Given the description of an element on the screen output the (x, y) to click on. 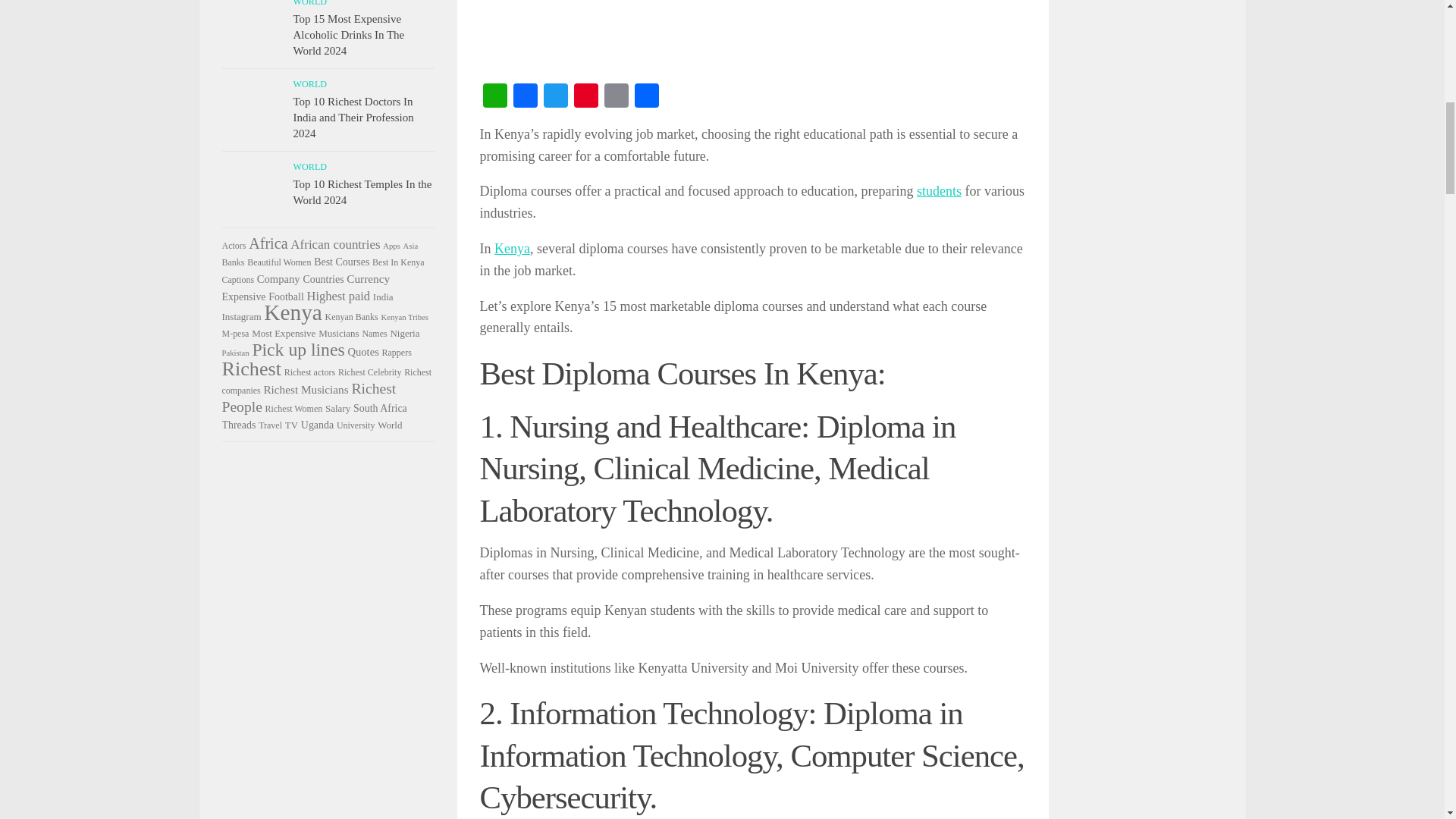
students (938, 191)
Kenya (512, 248)
Copy Link (614, 97)
Facebook (524, 97)
WhatsApp (494, 97)
WhatsApp (494, 97)
Twitter (555, 97)
Facebook (524, 97)
Pinterest (584, 97)
Twitter (555, 97)
Share (645, 97)
Pinterest (584, 97)
Copy Link (614, 97)
